Given the description of an element on the screen output the (x, y) to click on. 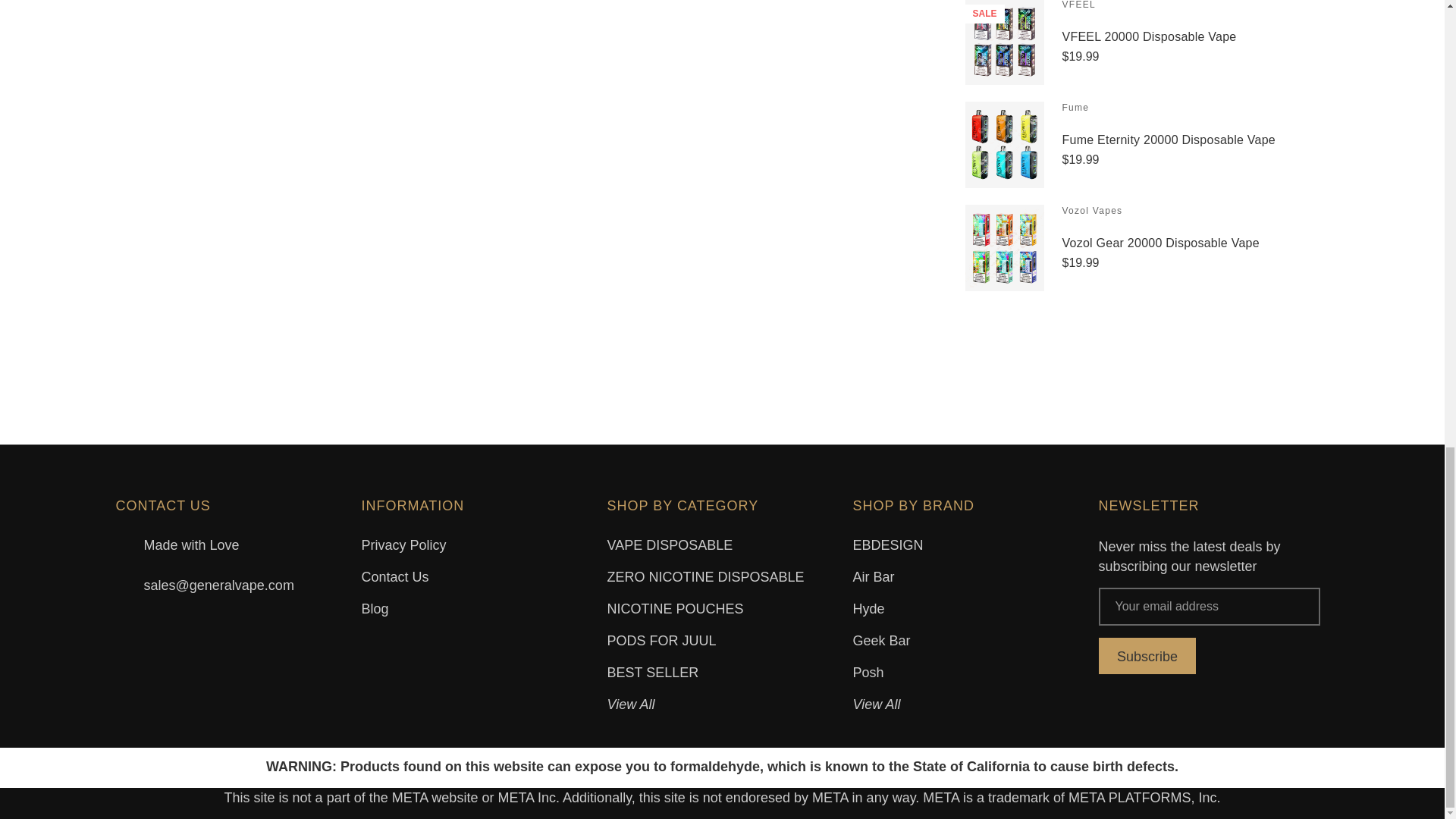
Subscribe (1146, 656)
